Given the description of an element on the screen output the (x, y) to click on. 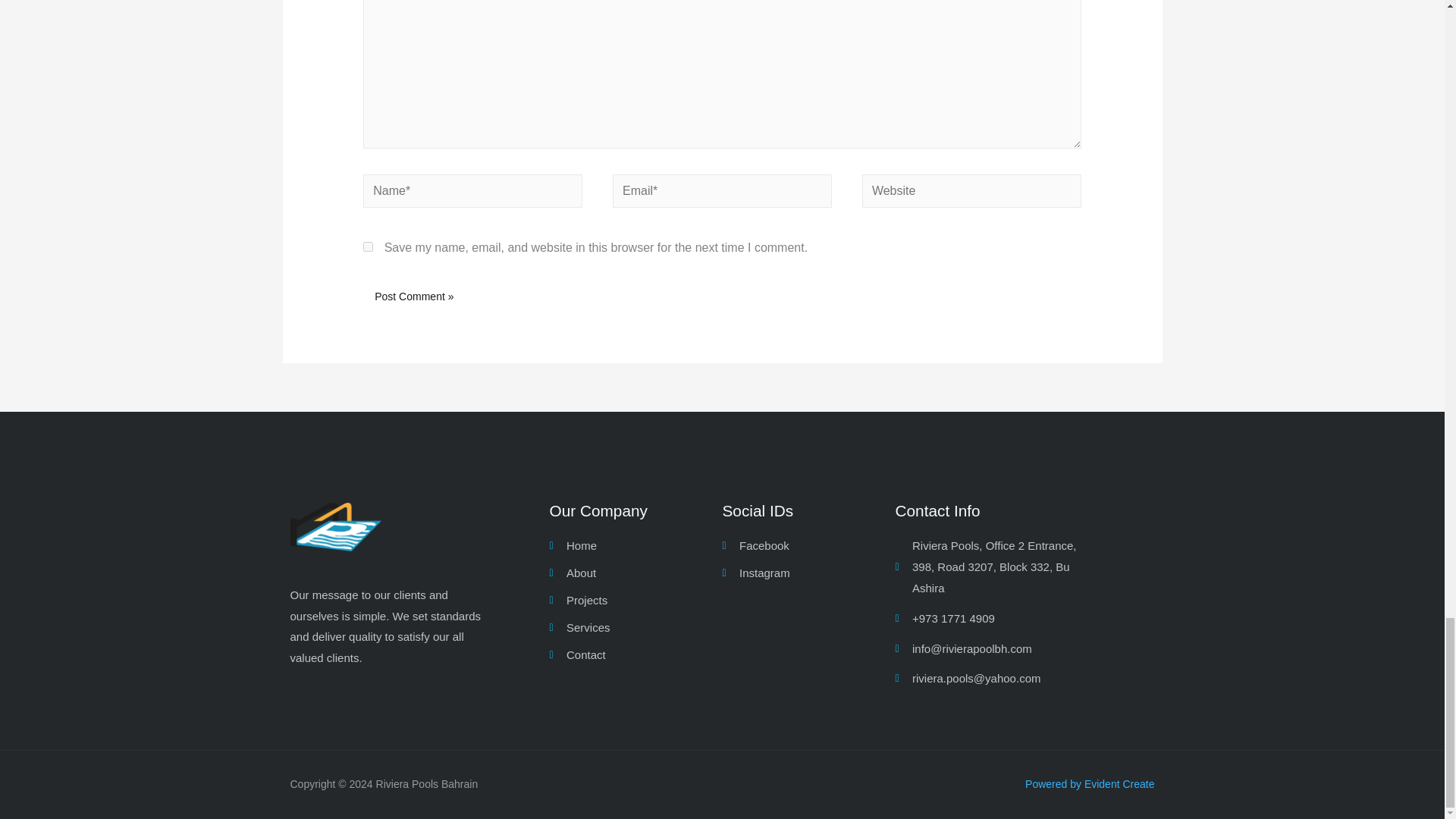
Projects (635, 599)
yes (367, 246)
Facebook (808, 545)
Powered by Evident Create (1089, 784)
Services (635, 627)
Home (635, 545)
Contact (635, 654)
About (635, 572)
